Given the description of an element on the screen output the (x, y) to click on. 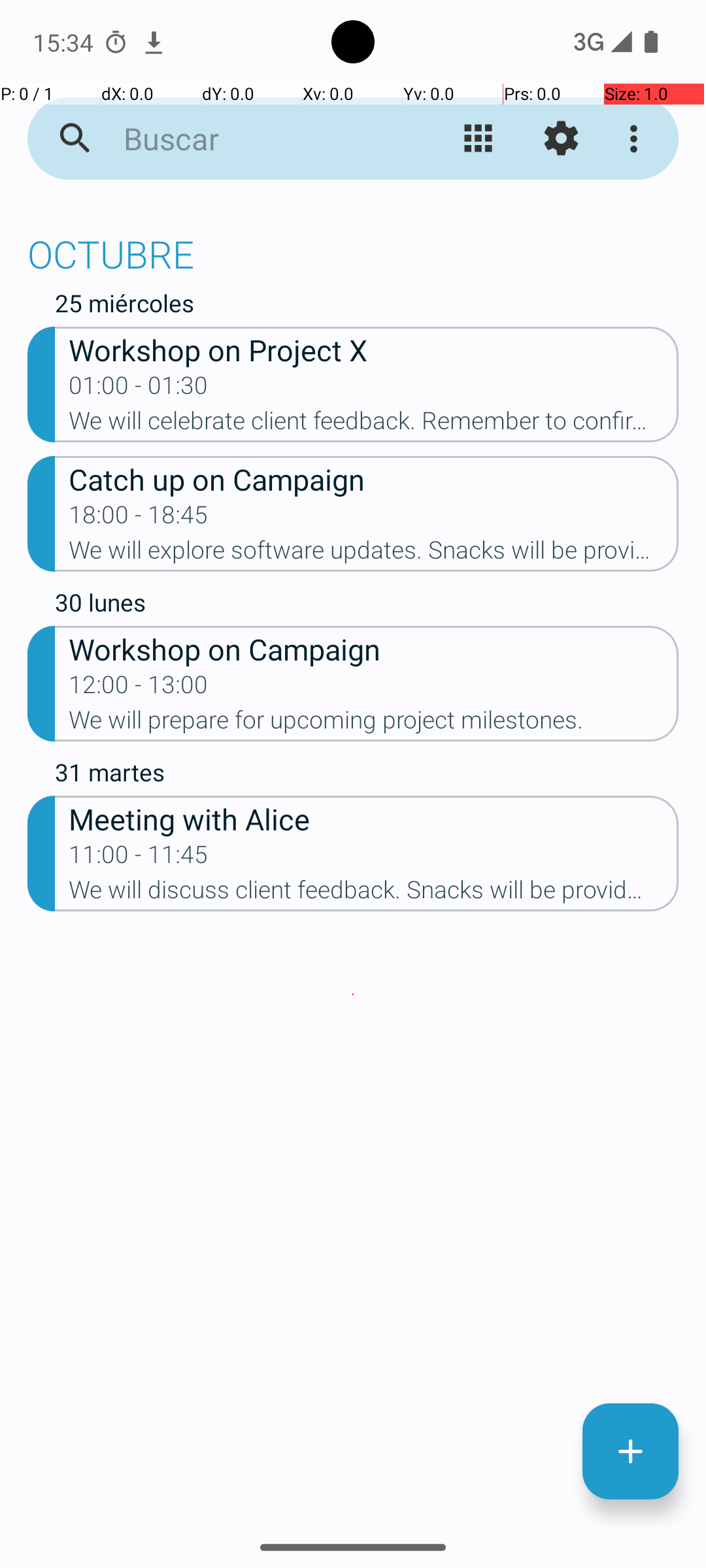
OCTUBRE Element type: android.widget.TextView (353, 246)
25 miércoles Element type: android.widget.TextView (366, 306)
30 lunes Element type: android.widget.TextView (366, 605)
31 martes Element type: android.widget.TextView (366, 775)
01:00 - 01:30 Element type: android.widget.TextView (137, 389)
We will celebrate client feedback. Remember to confirm attendance. Element type: android.widget.TextView (373, 424)
18:00 - 18:45 Element type: android.widget.TextView (137, 518)
We will explore software updates. Snacks will be provided. Element type: android.widget.TextView (373, 553)
12:00 - 13:00 Element type: android.widget.TextView (137, 688)
We will prepare for upcoming project milestones. Element type: android.widget.TextView (373, 723)
11:00 - 11:45 Element type: android.widget.TextView (137, 858)
We will discuss client feedback. Snacks will be provided. Element type: android.widget.TextView (373, 893)
